Given the description of an element on the screen output the (x, y) to click on. 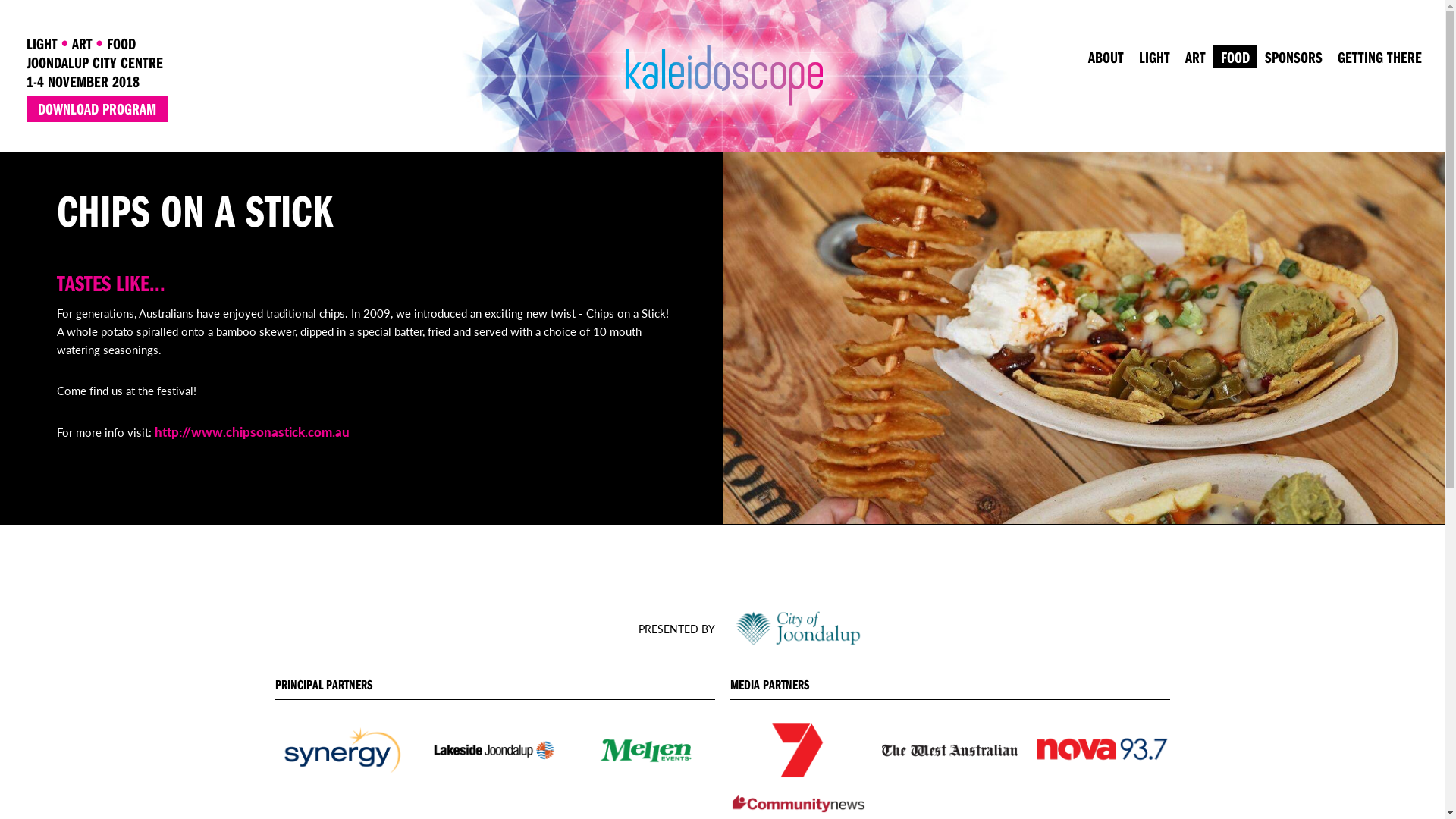
ABOUT Element type: text (1105, 56)
Skip to main content Element type: text (686, 1)
DOWNLOAD PROGRAM Element type: text (96, 108)
FOOD Element type: text (1235, 56)
GETTING THERE Element type: text (1379, 56)
http://www.chipsonastick.com.au Element type: text (251, 431)
LIGHT Element type: text (1154, 56)
SPONSORS Element type: text (1293, 56)
ART Element type: text (1195, 56)
Return to the Kaleidoscope Festival home page Element type: hover (722, 142)
